Given the description of an element on the screen output the (x, y) to click on. 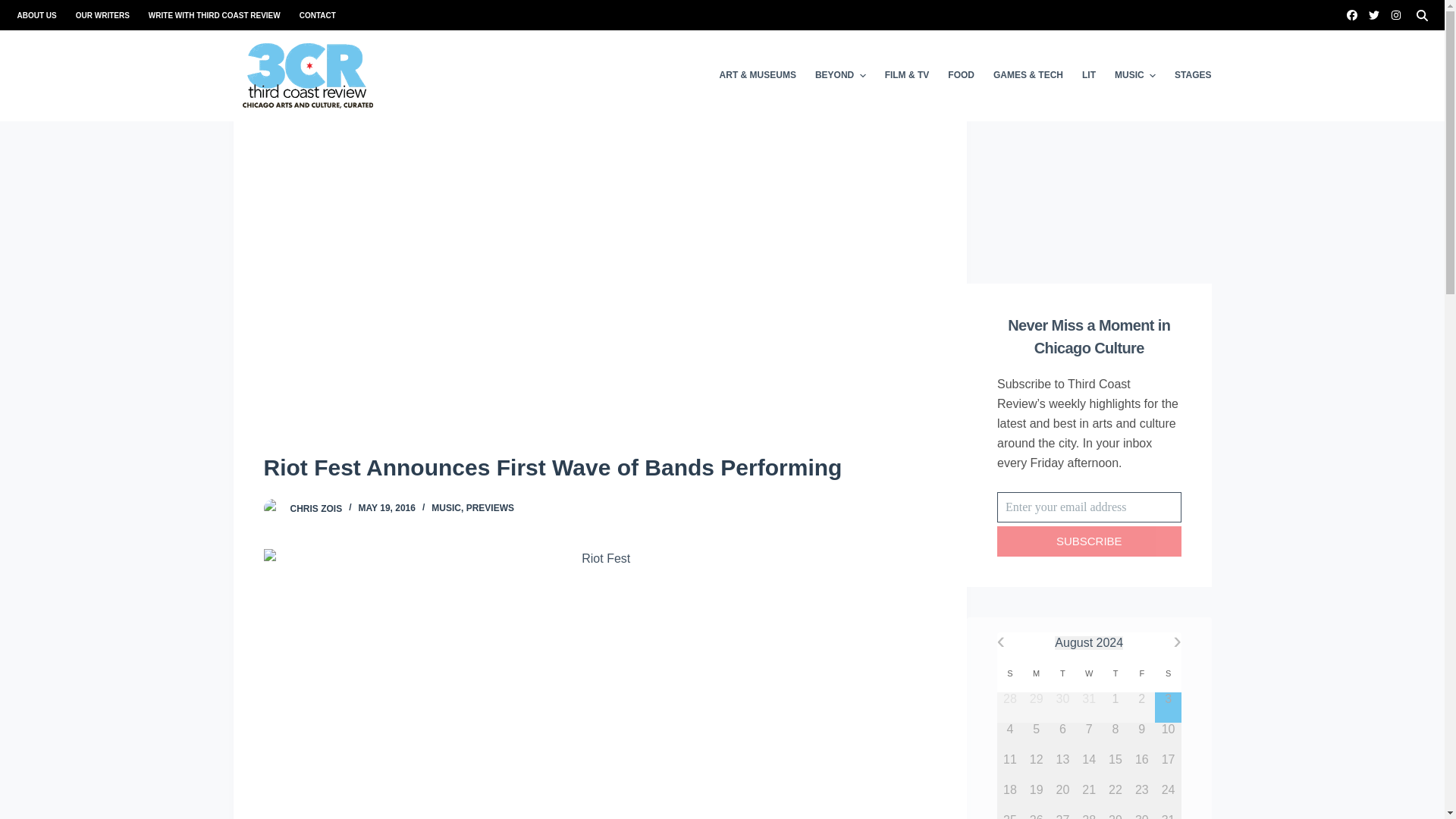
WRITE WITH THIRD COAST REVIEW (213, 15)
ABOUT US (40, 15)
CONTACT (312, 15)
OUR WRITERS (101, 15)
